Given the description of an element on the screen output the (x, y) to click on. 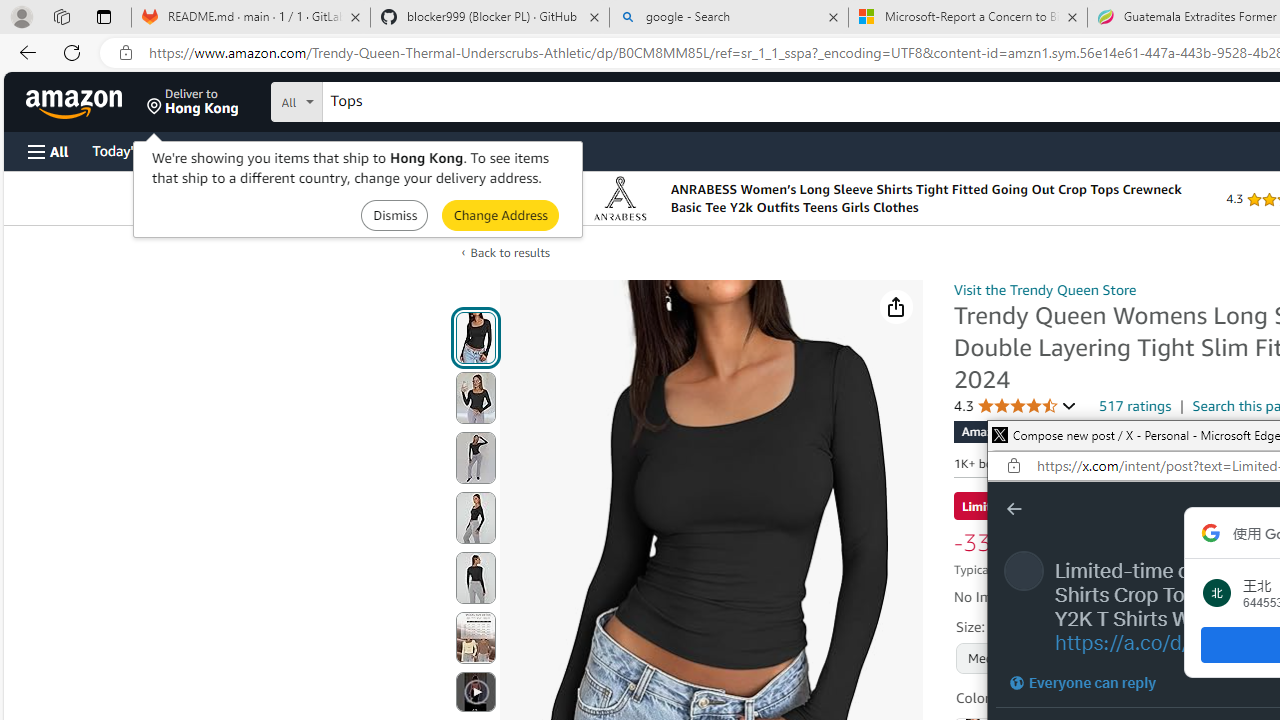
Back to results (509, 252)
Share (896, 307)
Visit the Trendy Queen Store (1044, 289)
Registry (360, 150)
Sell (509, 150)
Submit (499, 214)
Search in (371, 99)
Today's Deals (134, 150)
Customer Service (256, 150)
4.3 4.3 out of 5 stars (1015, 406)
